Given the description of an element on the screen output the (x, y) to click on. 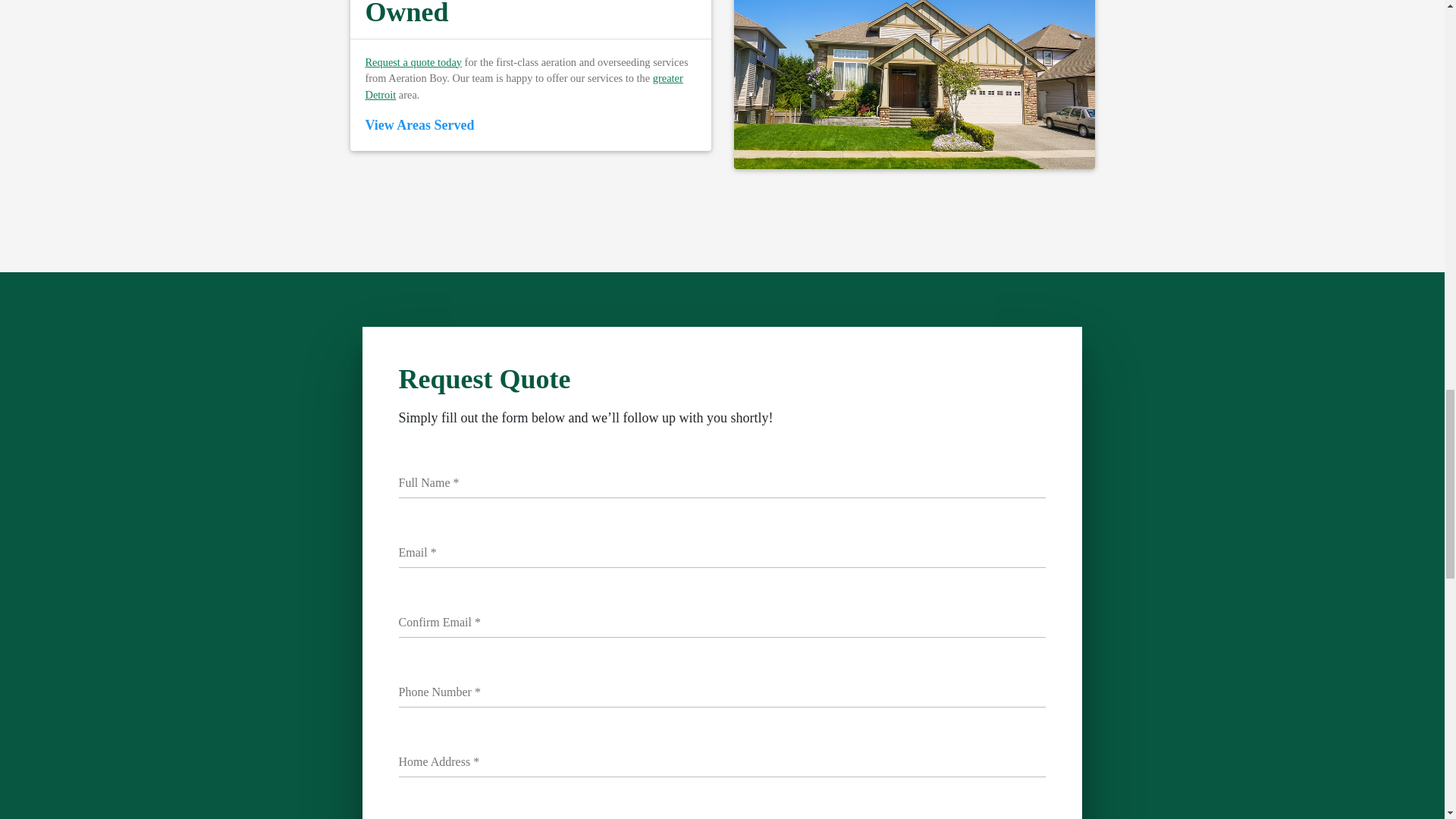
greater Detroit (523, 86)
View Areas Served (419, 124)
Request a quote today (414, 61)
